Given the description of an element on the screen output the (x, y) to click on. 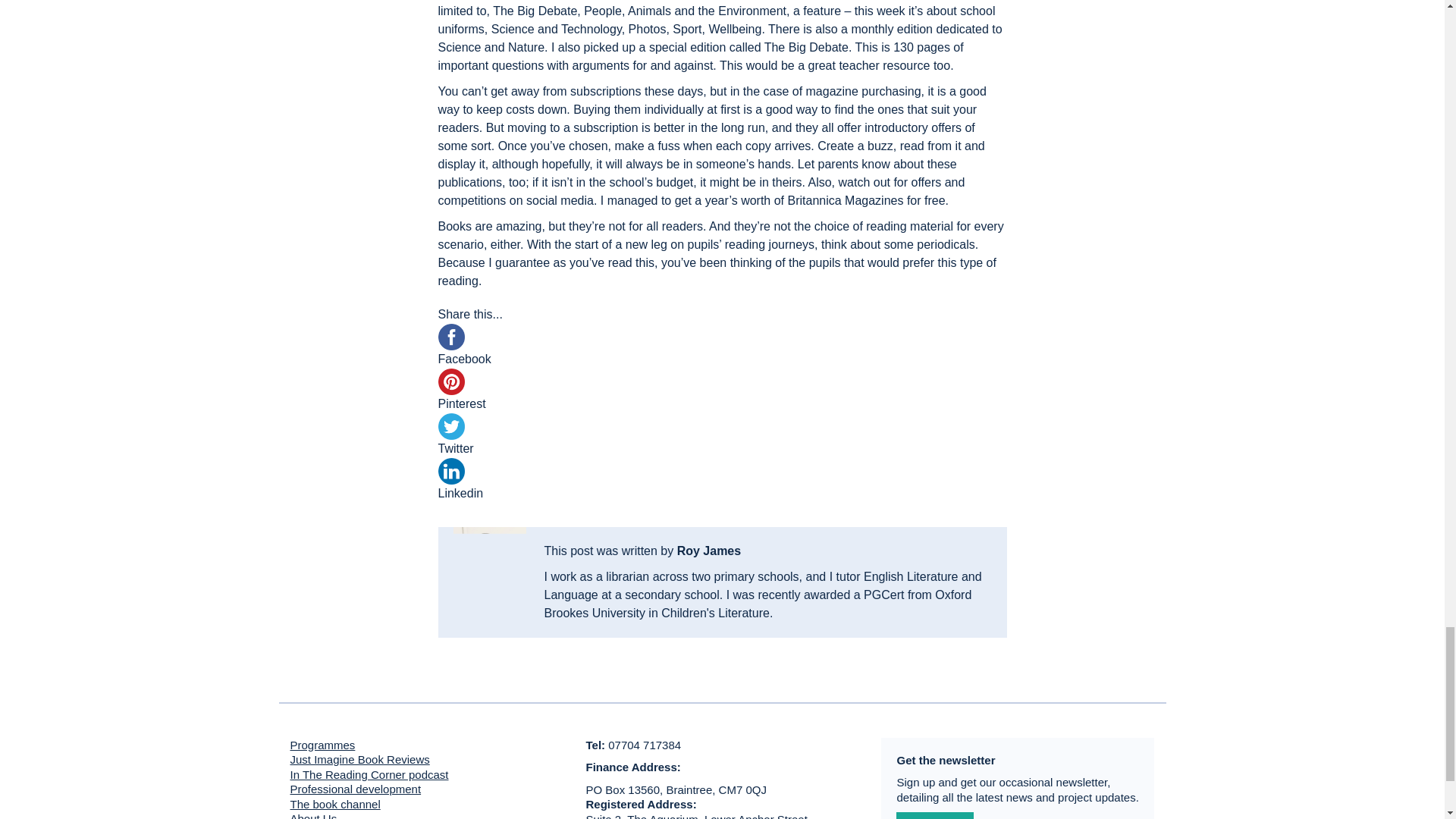
Just Imagine Book Reviews (359, 758)
Facebook (722, 359)
facebook (451, 336)
Twitter (722, 446)
Professional development (354, 788)
The book channel (334, 803)
In The Reading Corner podcast (368, 774)
Pinterest (722, 403)
Twitter (722, 448)
Programmes (322, 744)
pinterest (451, 381)
Facebook (722, 357)
Linkedin (722, 482)
About Us (312, 815)
twitter (451, 426)
